Given the description of an element on the screen output the (x, y) to click on. 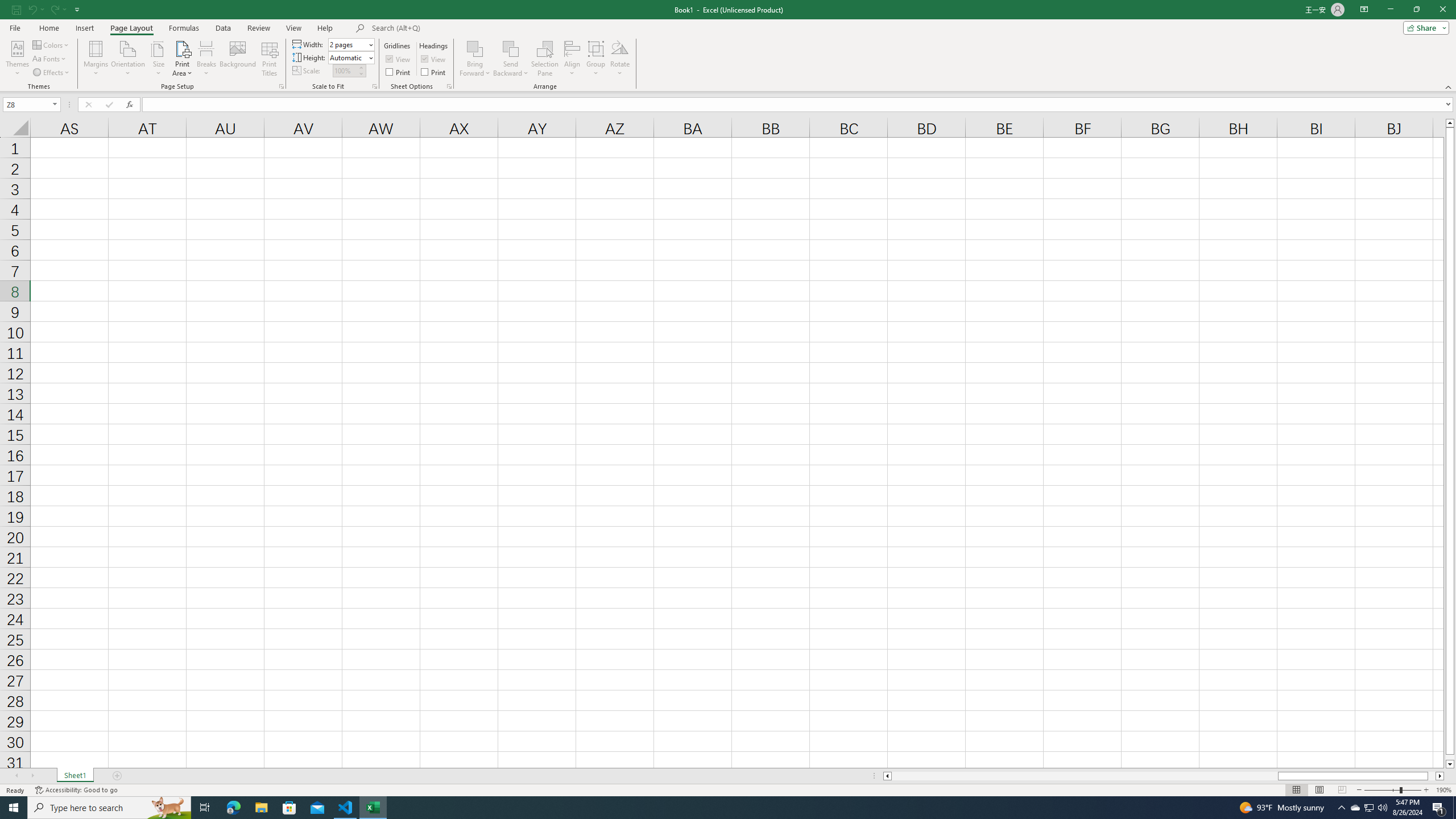
Print (434, 71)
Effects (51, 72)
Selection Pane... (544, 58)
Align (571, 58)
Rotate (619, 58)
Send Backward (510, 48)
Background... (237, 58)
Height (350, 56)
